Given the description of an element on the screen output the (x, y) to click on. 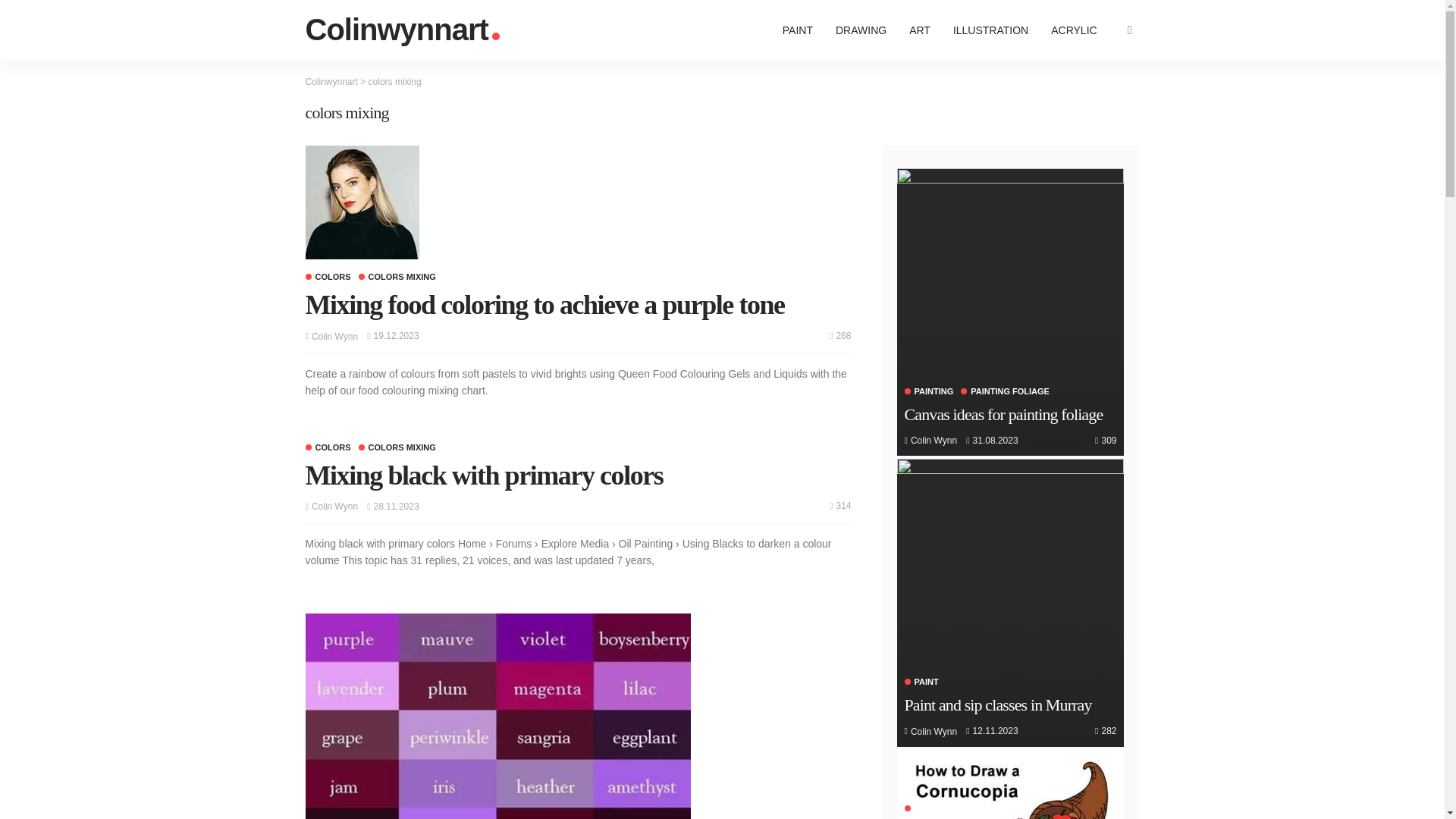
Mixing black with primary colors (839, 505)
Mixing food coloring to achieve a purple tone (544, 304)
colors (327, 447)
colors mixing (396, 447)
Mixing primary colors to produce purple (497, 716)
colors mixing (396, 276)
Mixing food coloring to achieve a purple tone (839, 335)
Mixing black with primary colors (483, 475)
colors (327, 276)
Go to Colinwynnart. (330, 81)
Mixing food coloring to achieve a purple tone (361, 202)
